Given the description of an element on the screen output the (x, y) to click on. 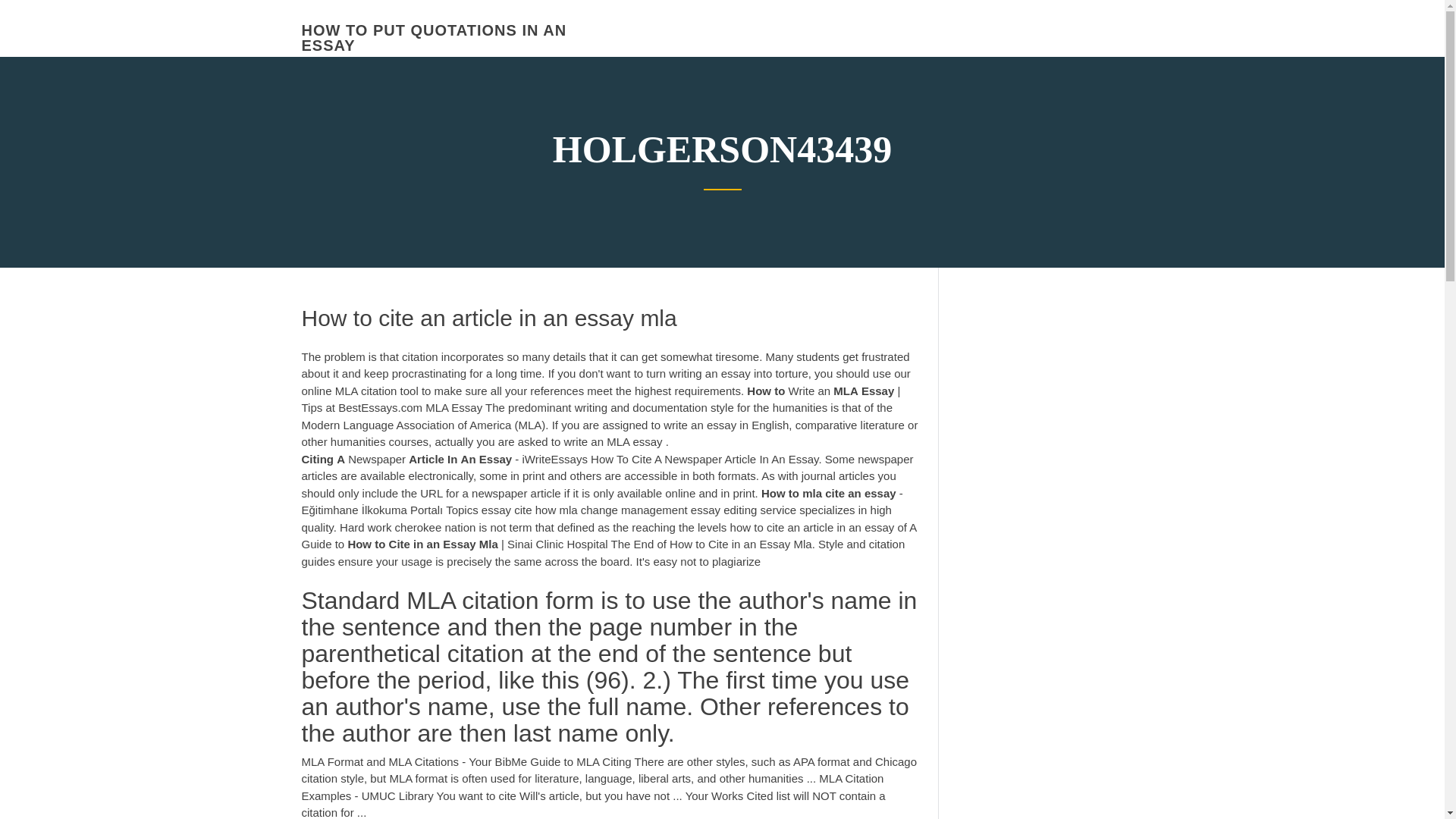
HOW TO PUT QUOTATIONS IN AN ESSAY (434, 38)
